Given the description of an element on the screen output the (x, y) to click on. 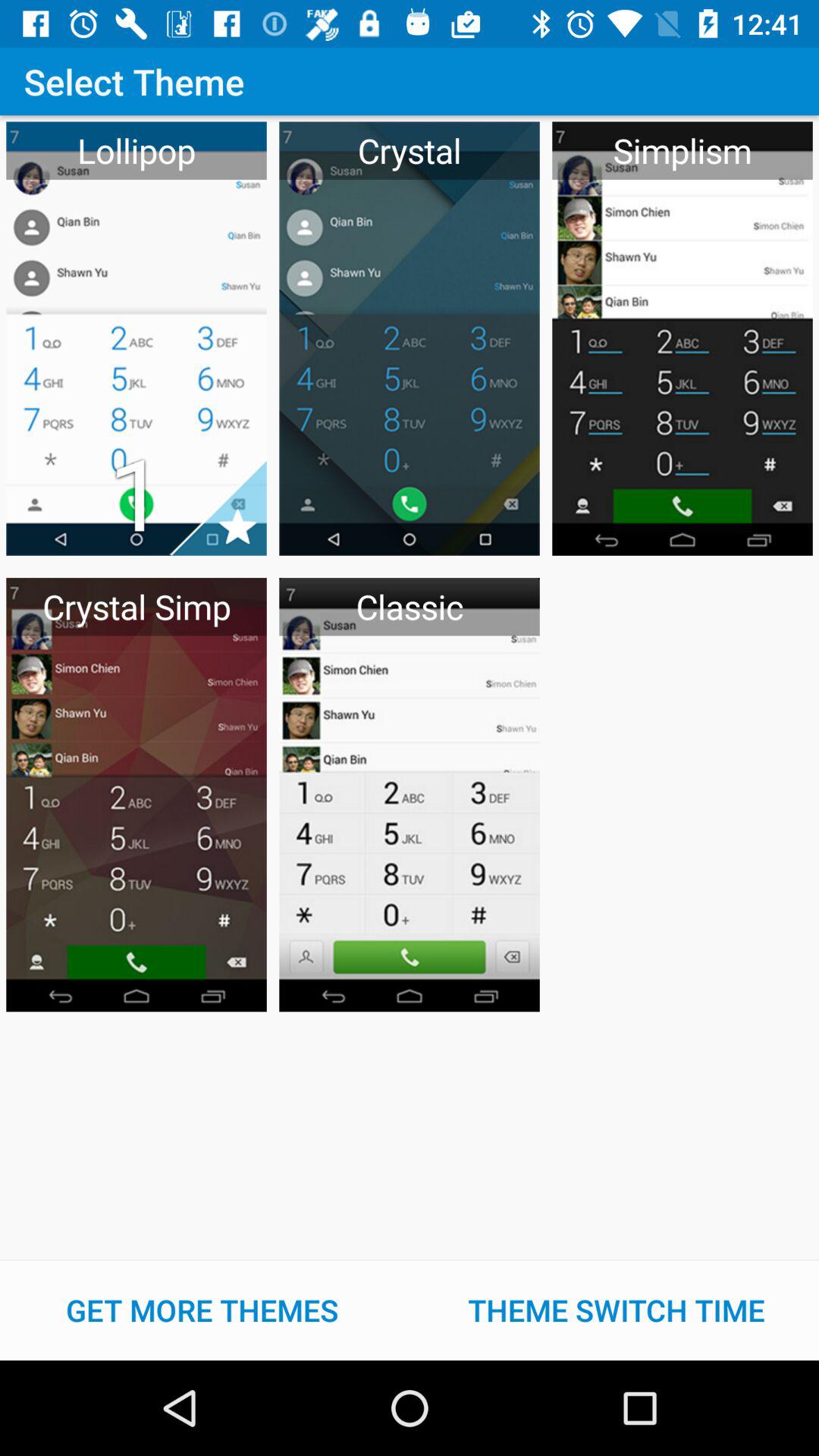
swipe until the get more themes item (202, 1310)
